Given the description of an element on the screen output the (x, y) to click on. 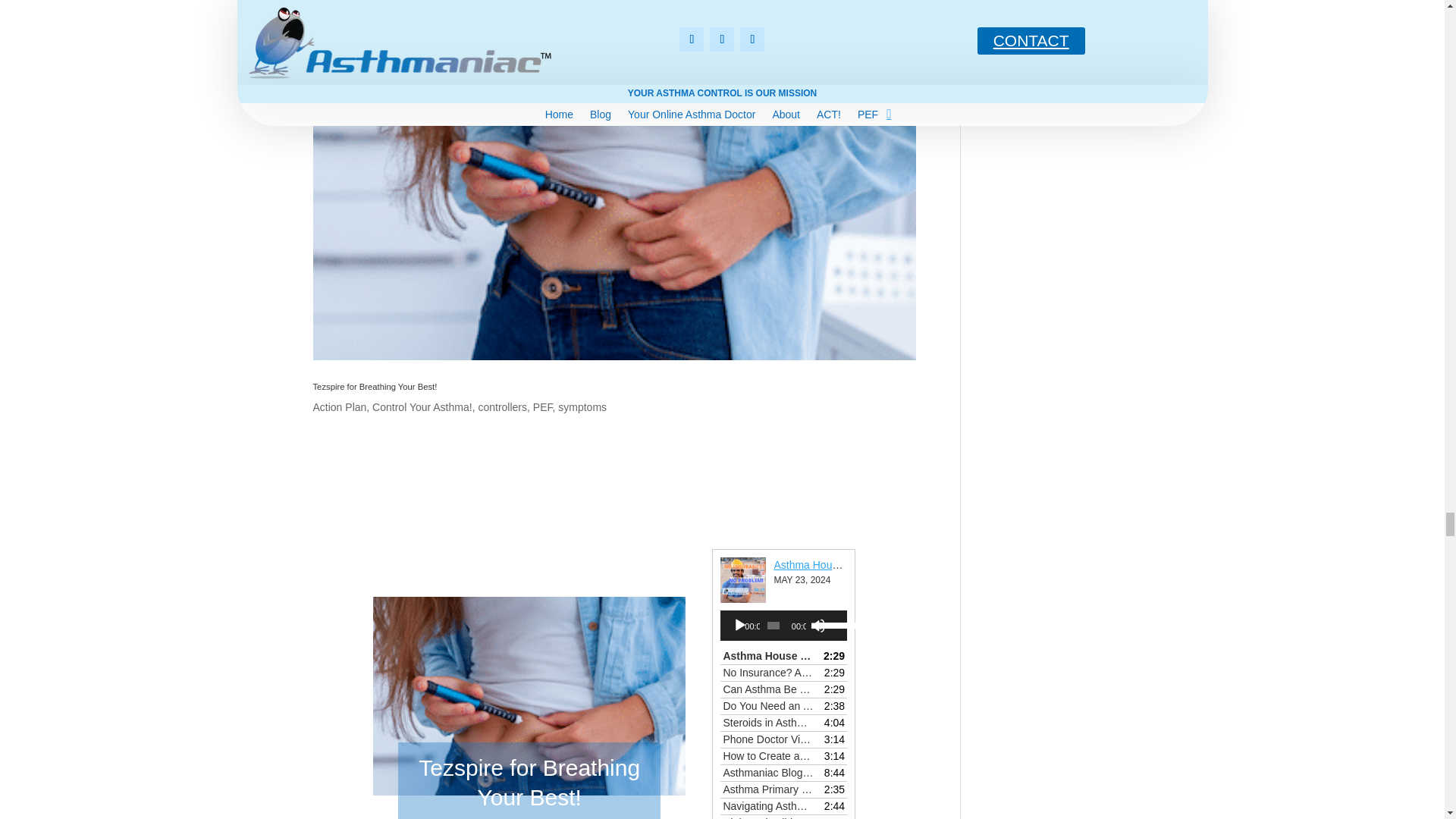
Mute (817, 625)
Play (740, 625)
